Given the description of an element on the screen output the (x, y) to click on. 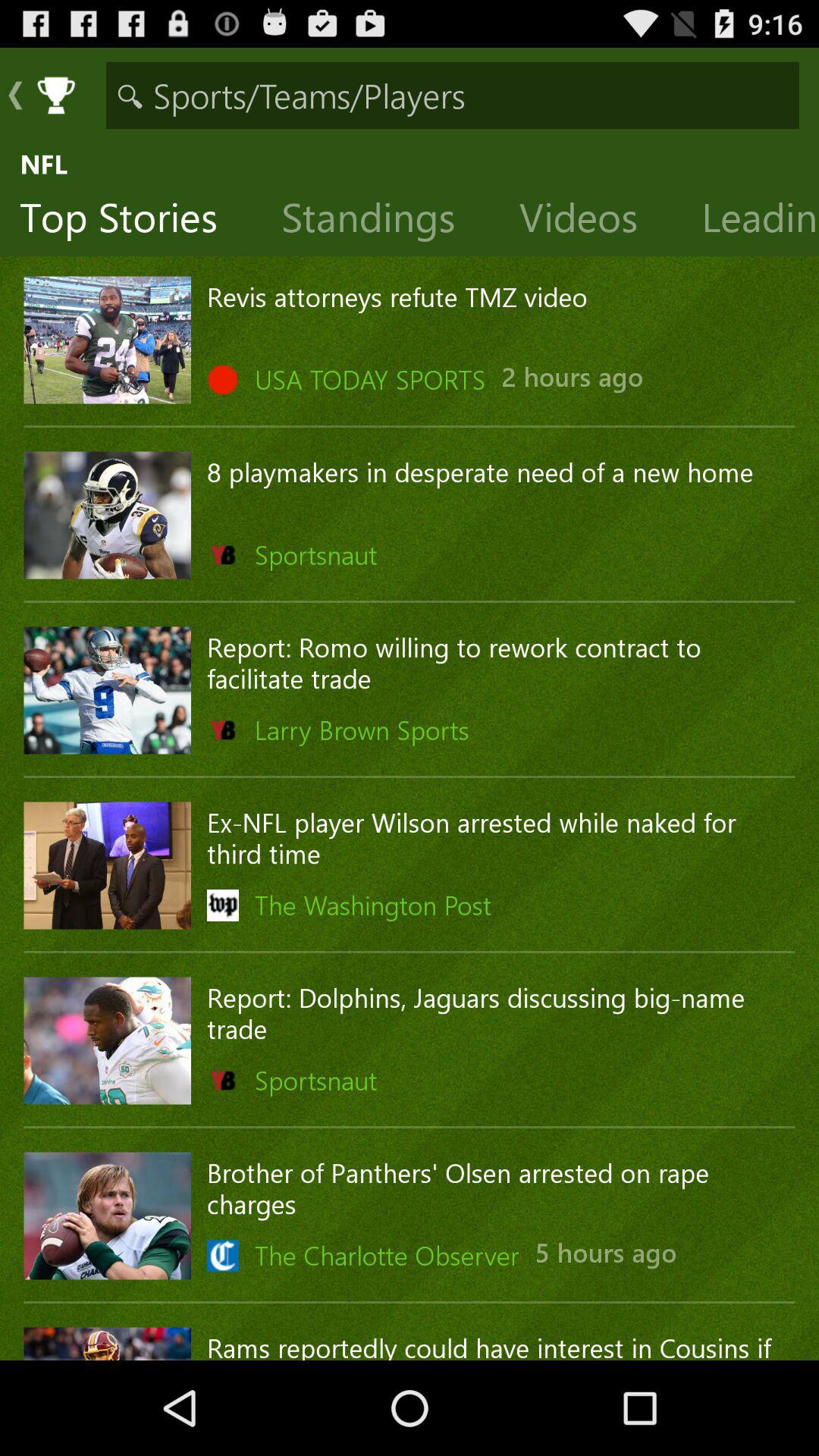
search it (452, 95)
